Given the description of an element on the screen output the (x, y) to click on. 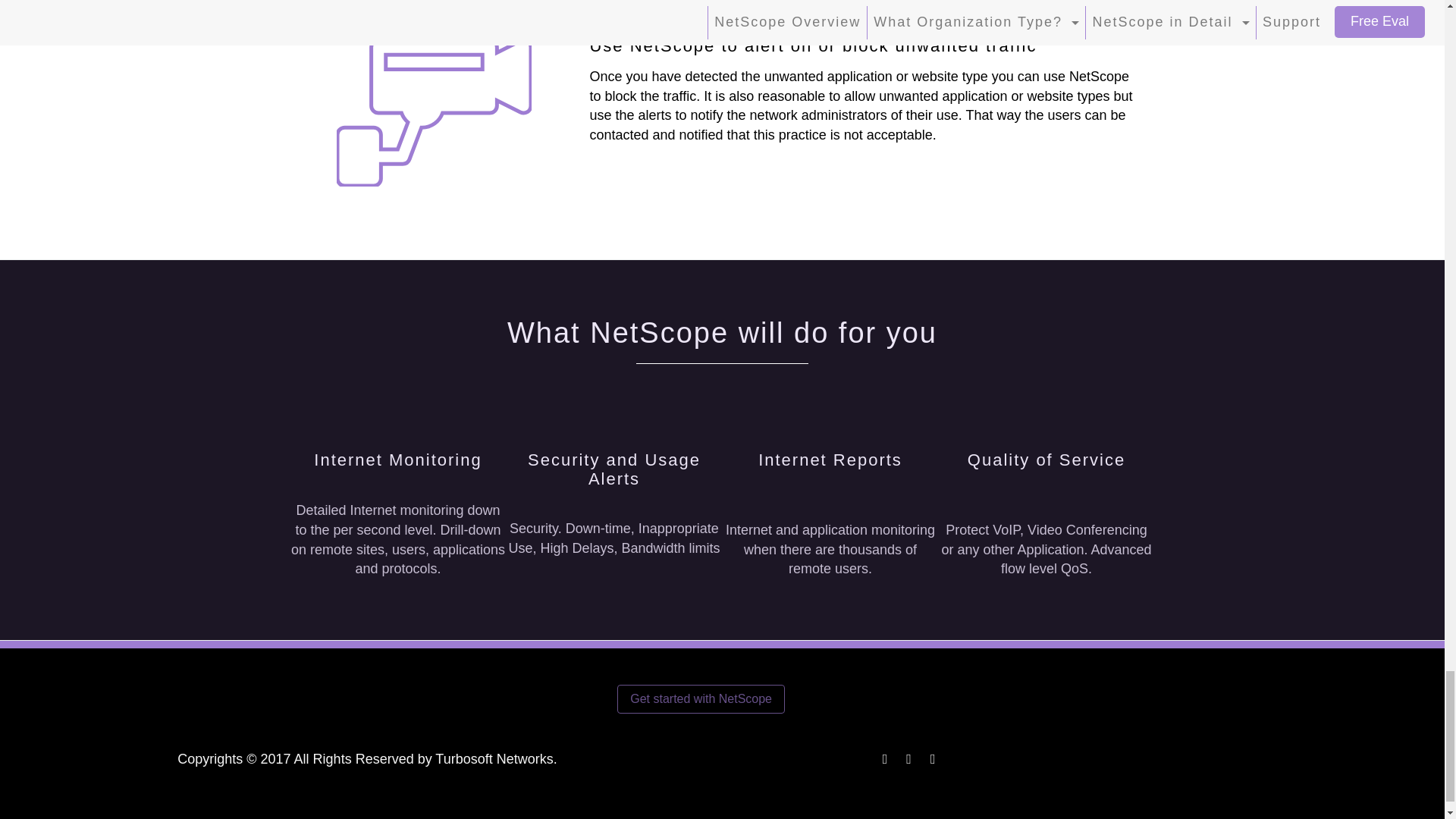
Get started with NetScope (700, 698)
Get started with NetScope (700, 698)
